Given the description of an element on the screen output the (x, y) to click on. 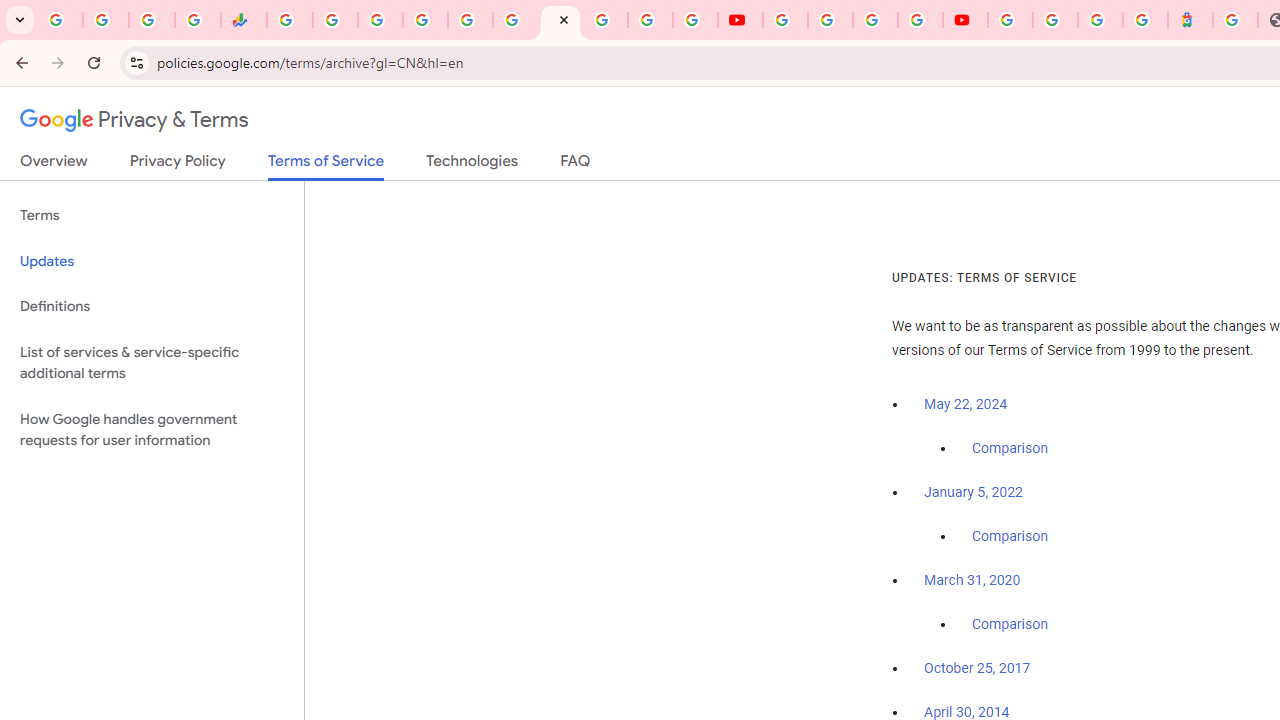
Sign in - Google Accounts (1010, 20)
Privacy Policy (177, 165)
